Given the description of an element on the screen output the (x, y) to click on. 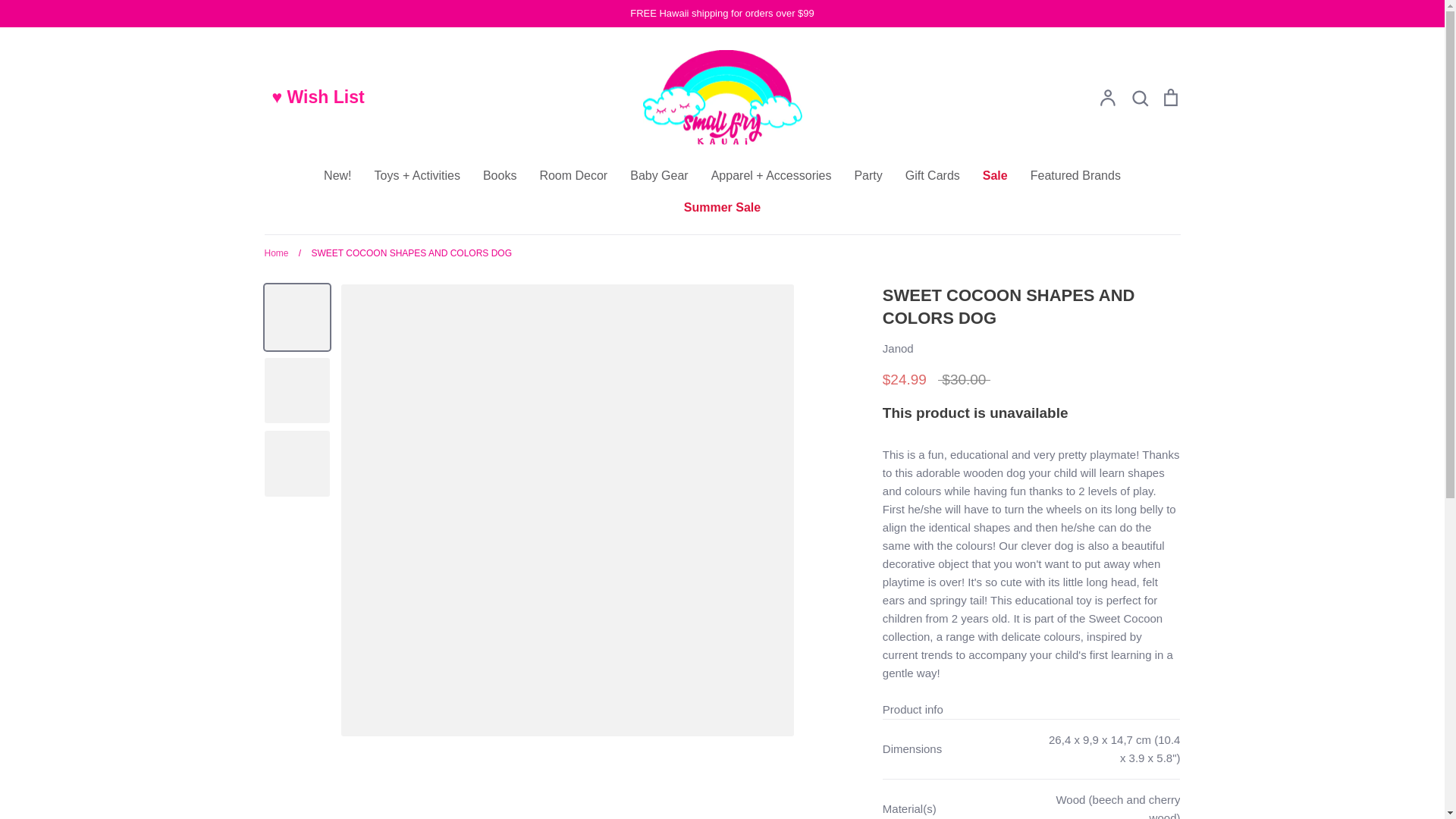
Account (1107, 97)
Cart (1169, 97)
Search (1139, 97)
New! (336, 174)
